Given the description of an element on the screen output the (x, y) to click on. 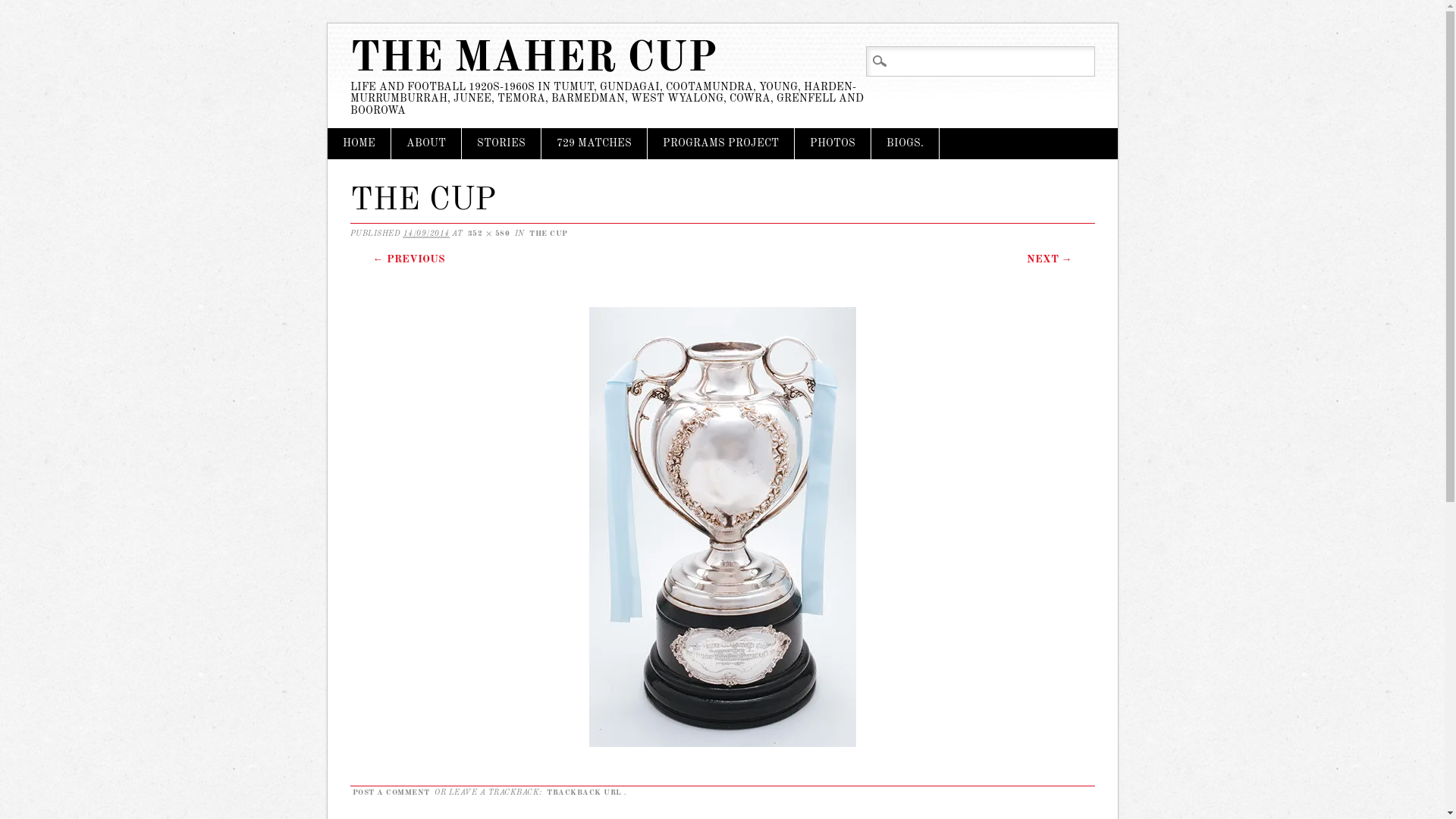
BIOGS. Element type: text (904, 143)
729 MATCHES Element type: text (593, 143)
TRACKBACK URL Element type: text (584, 792)
Search Element type: text (25, 9)
PROGRAMS PROJECT Element type: text (720, 143)
HOME Element type: text (358, 143)
THE CUP Element type: text (548, 233)
The cup Element type: hover (721, 746)
STORIES Element type: text (500, 143)
PHOTOS Element type: text (832, 143)
THE MAHER CUP Element type: text (533, 59)
POST A COMMENT Element type: text (391, 792)
ABOUT Element type: text (426, 143)
